Given the description of an element on the screen output the (x, y) to click on. 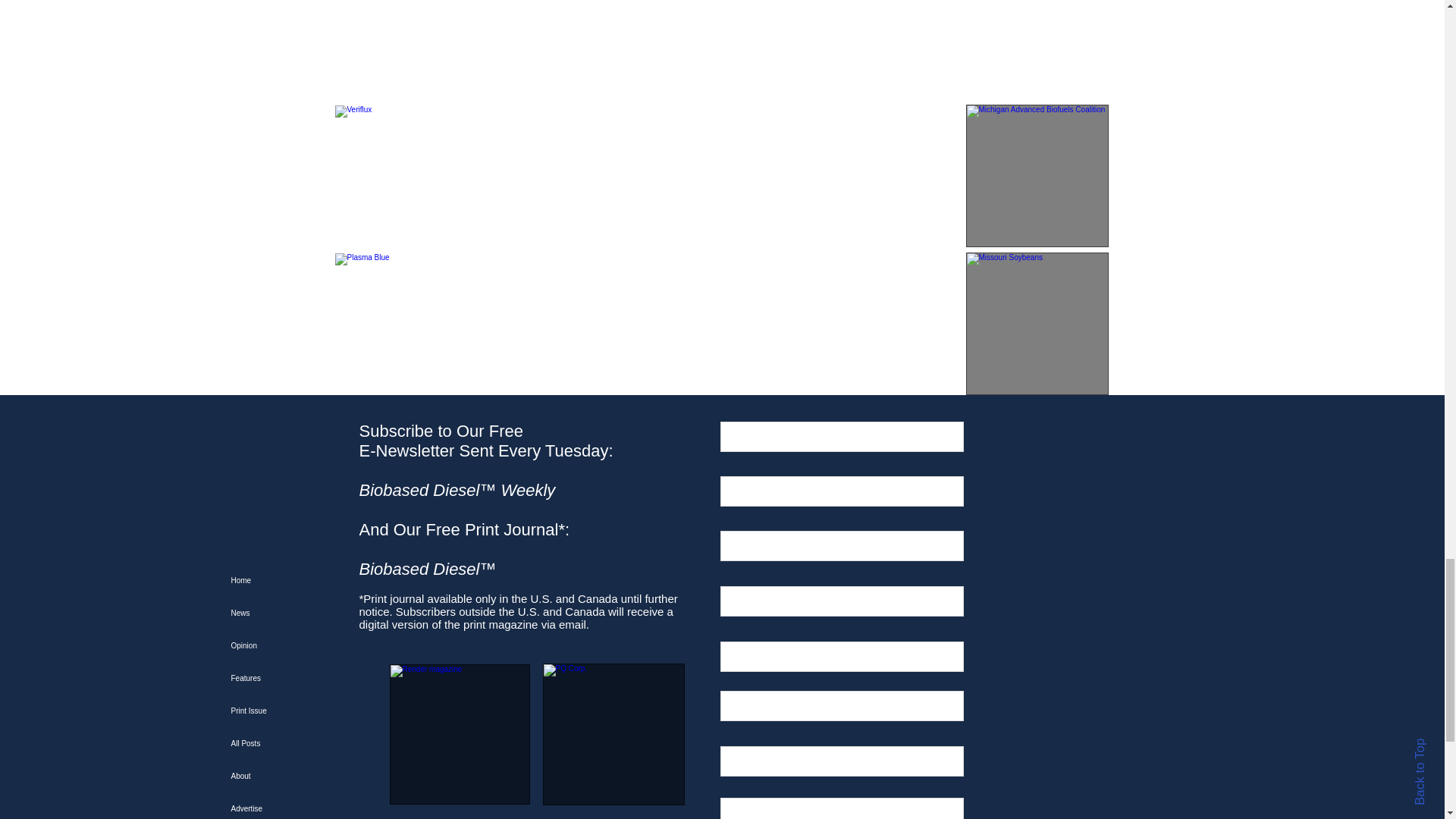
Clean Fuels Alliance America (1037, 49)
Veriflux (405, 176)
Inflectis Digital Marketing  (405, 49)
Plasma Blue (405, 323)
